Given the description of an element on the screen output the (x, y) to click on. 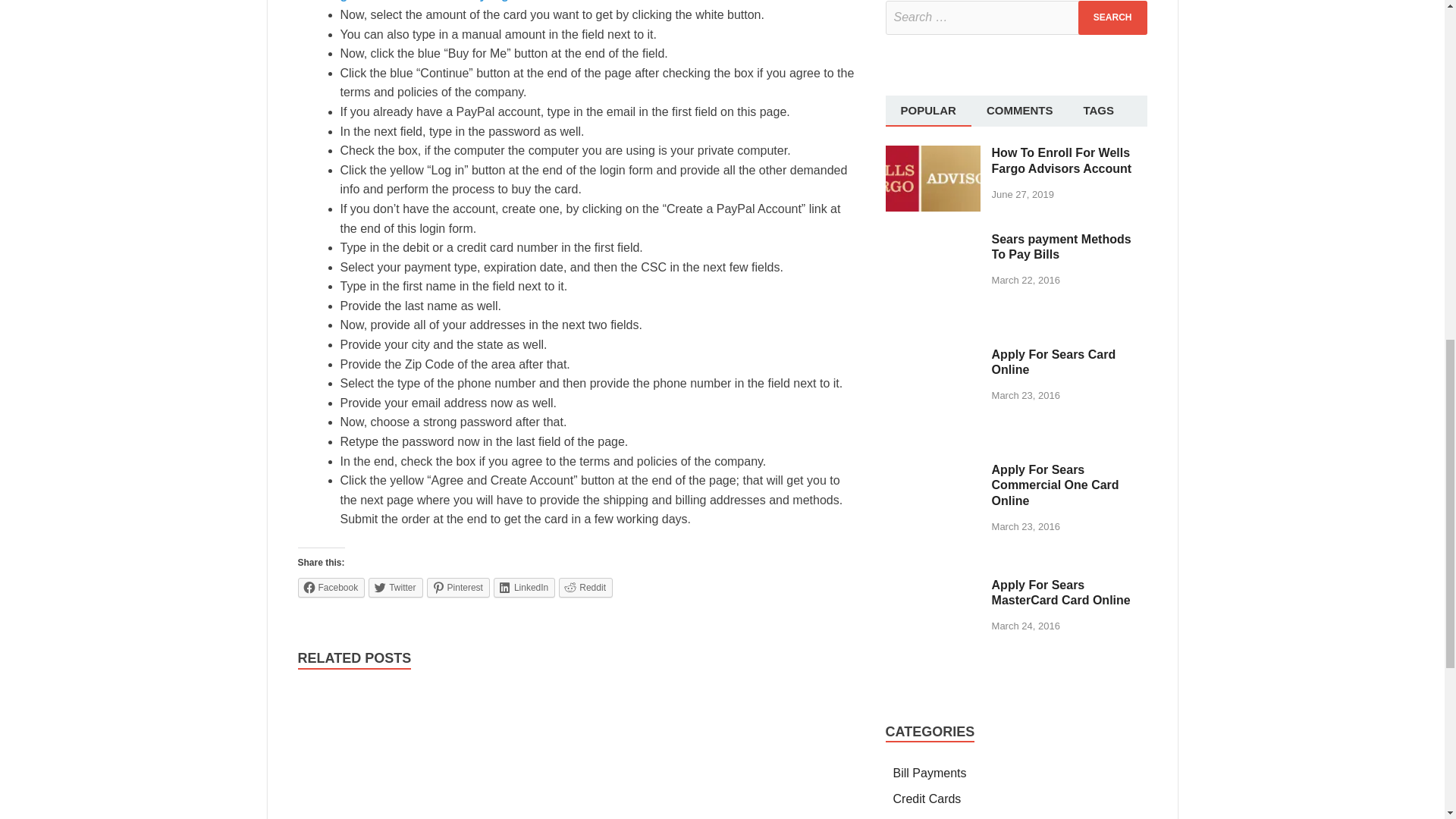
Click to share on Reddit (585, 587)
Search (1112, 17)
Twitter (395, 587)
Search (1112, 17)
Facebook (331, 587)
Pinterest (457, 587)
Click to share on Twitter (395, 587)
LinkedIn (523, 587)
Click to share on Facebook (331, 587)
Click to share on LinkedIn (523, 587)
